Given the description of an element on the screen output the (x, y) to click on. 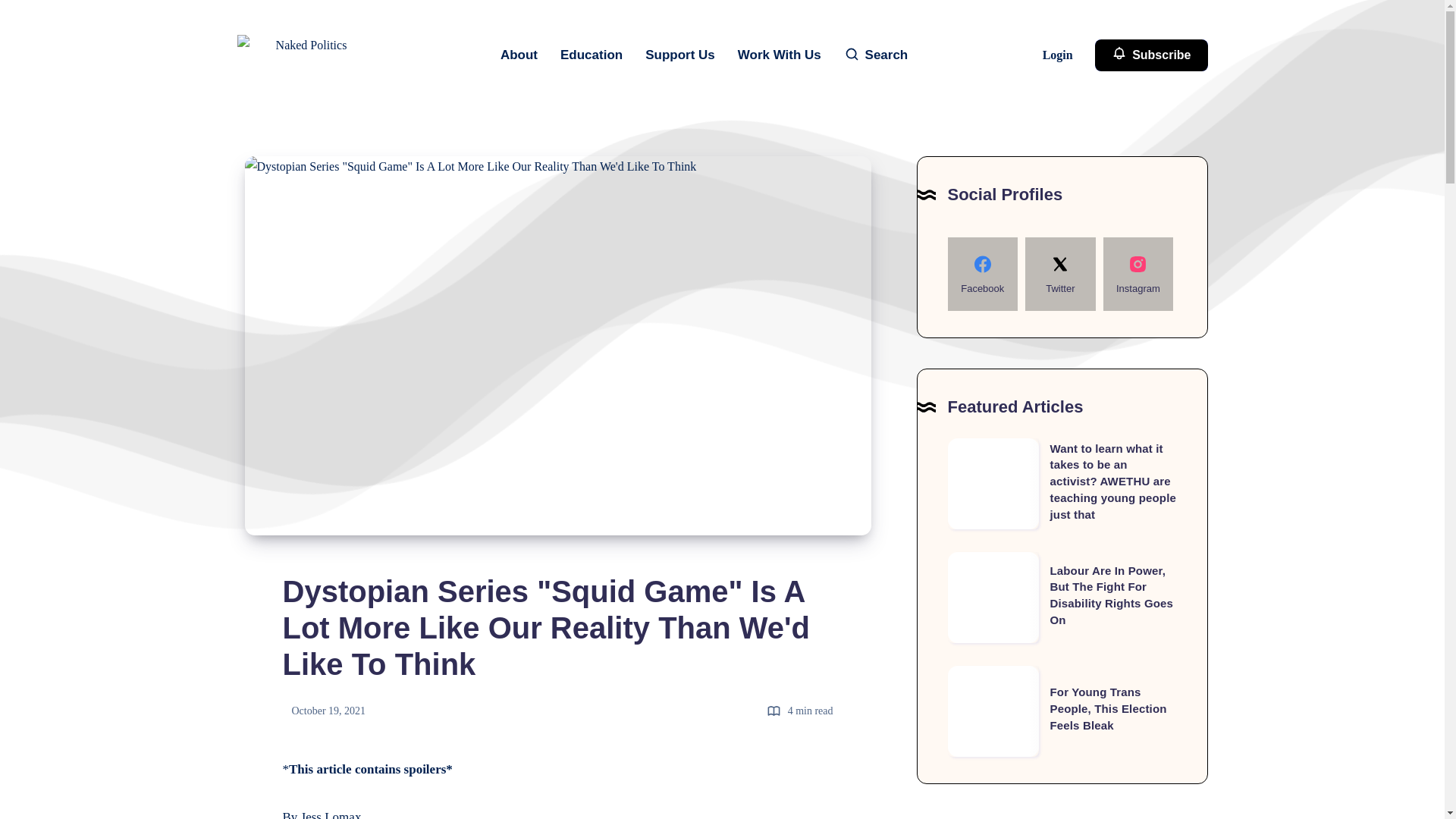
For Young Trans People, This Election Feels Bleak (993, 710)
Twitter (1059, 274)
Support Us (679, 54)
Work With Us (779, 54)
About (518, 54)
For Young Trans People, This Election Feels Bleak (1107, 708)
Login (1058, 54)
Instagram (1138, 274)
Education (591, 54)
Subscribe (1151, 55)
Facebook (982, 274)
